Given the description of an element on the screen output the (x, y) to click on. 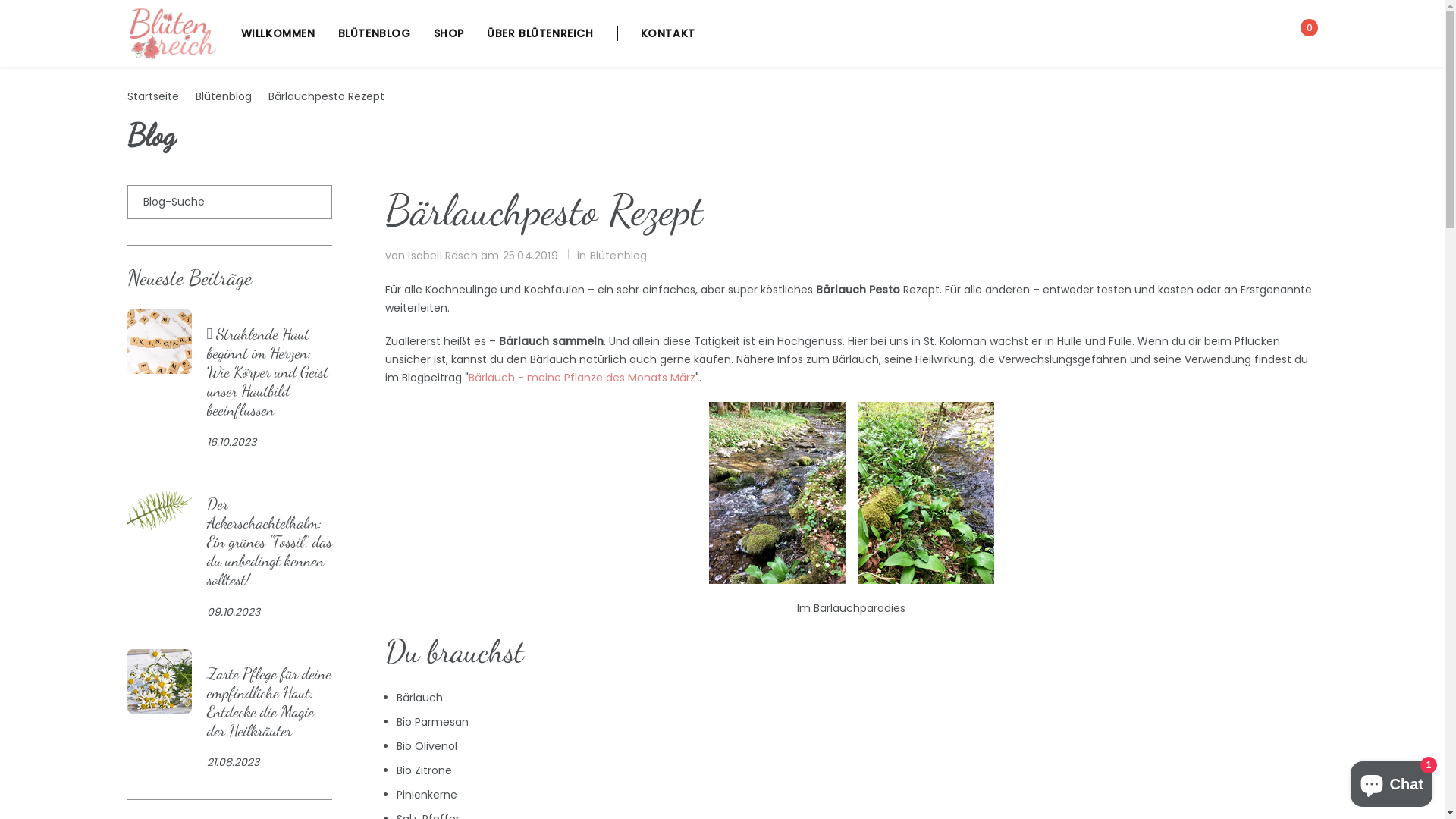
WILLKOMMEN Element type: text (278, 32)
Onlineshop-Chat von Shopify Element type: hover (1391, 780)
Startseite Element type: text (152, 95)
0 Element type: text (1303, 32)
KONTAKT Element type: text (655, 32)
SHOP Element type: text (448, 32)
